Given the description of an element on the screen output the (x, y) to click on. 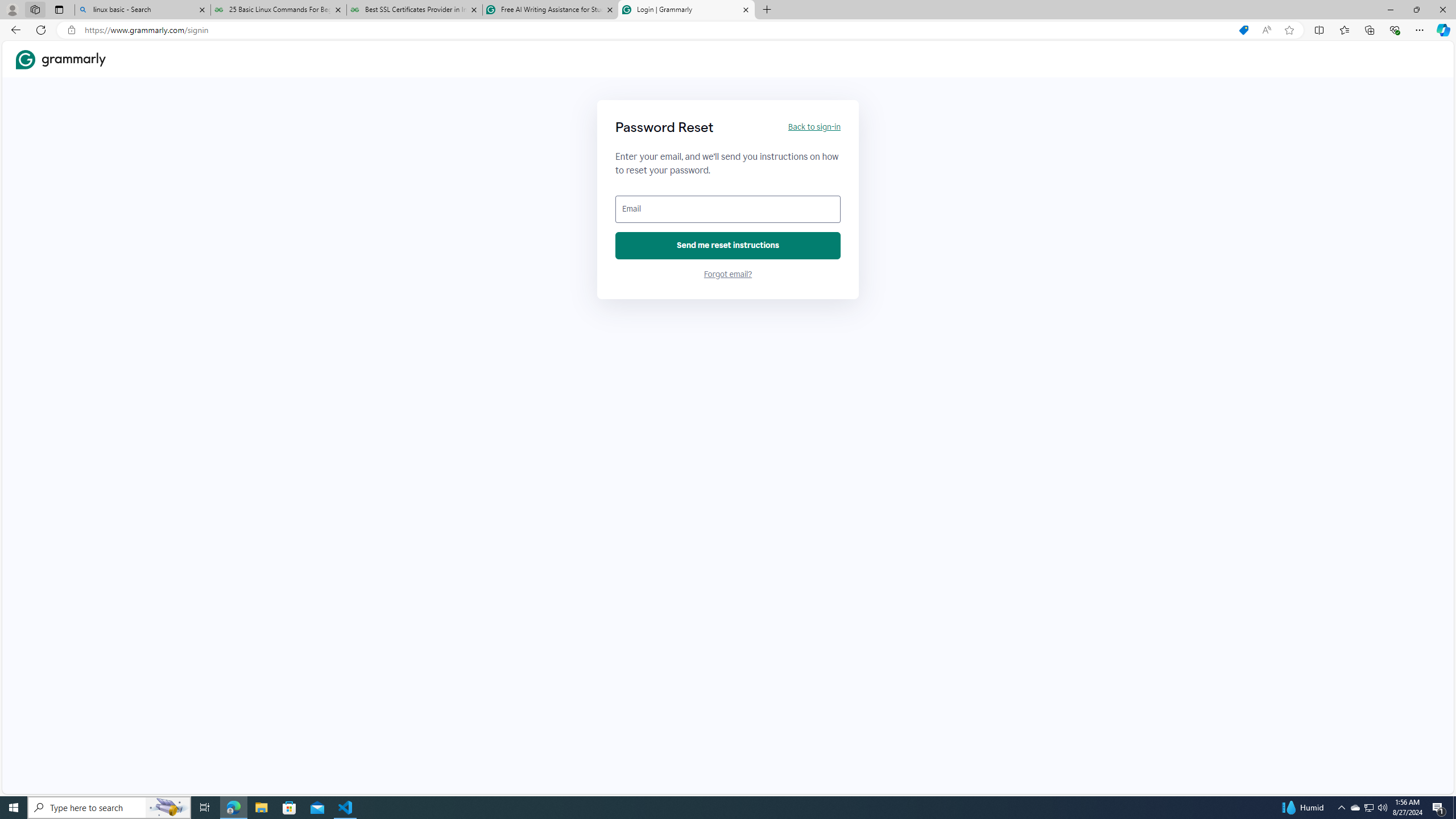
Best SSL Certificates Provider in India - GeeksforGeeks (414, 9)
Grammarly Home (61, 59)
